Given the description of an element on the screen output the (x, y) to click on. 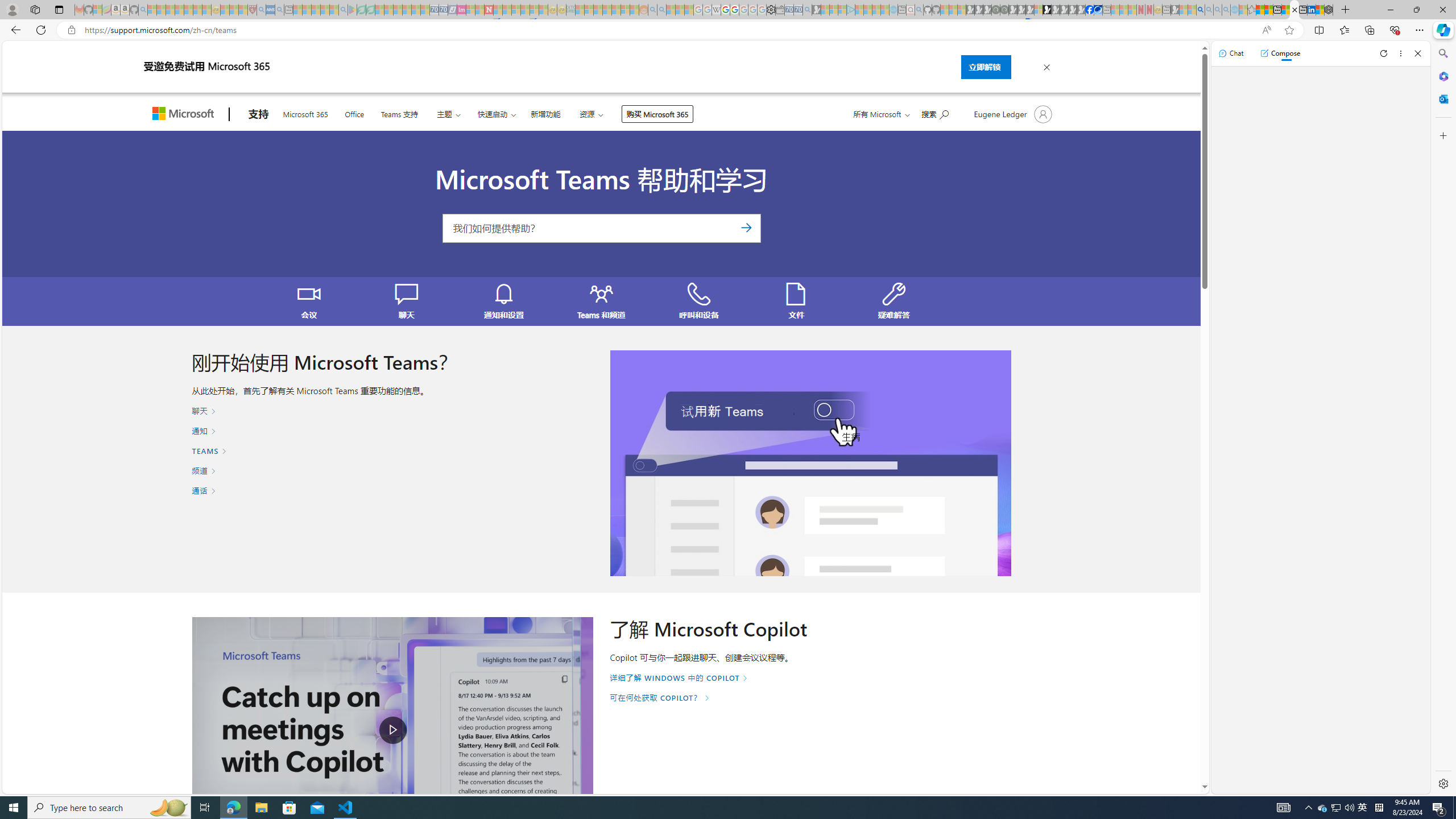
Aberdeen, Hong Kong SAR weather forecast | Microsoft Weather (1268, 9)
MSN - Sleeping (1174, 9)
